Given the description of an element on the screen output the (x, y) to click on. 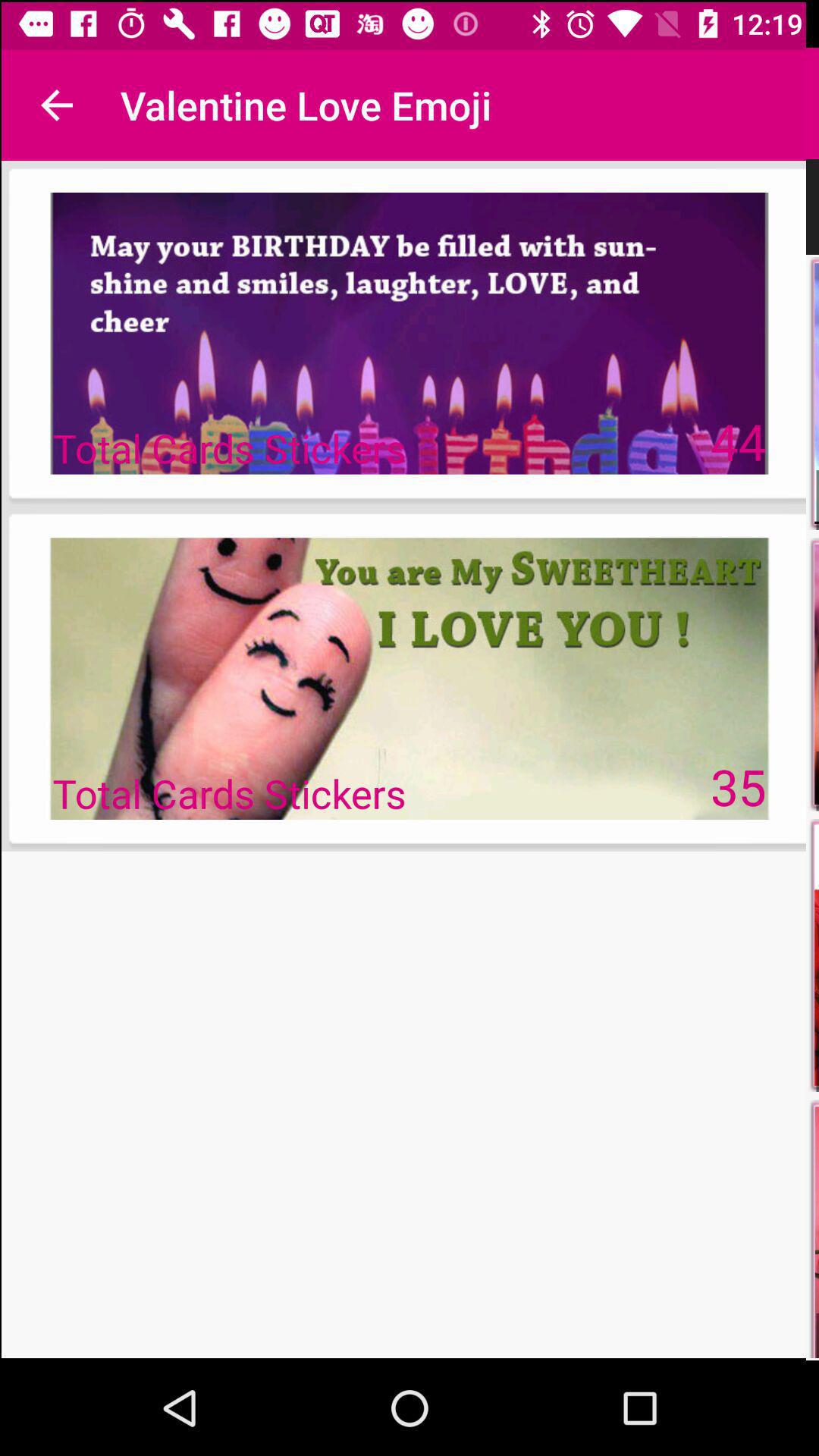
open icon to the right of the total cards stickers item (739, 786)
